Given the description of an element on the screen output the (x, y) to click on. 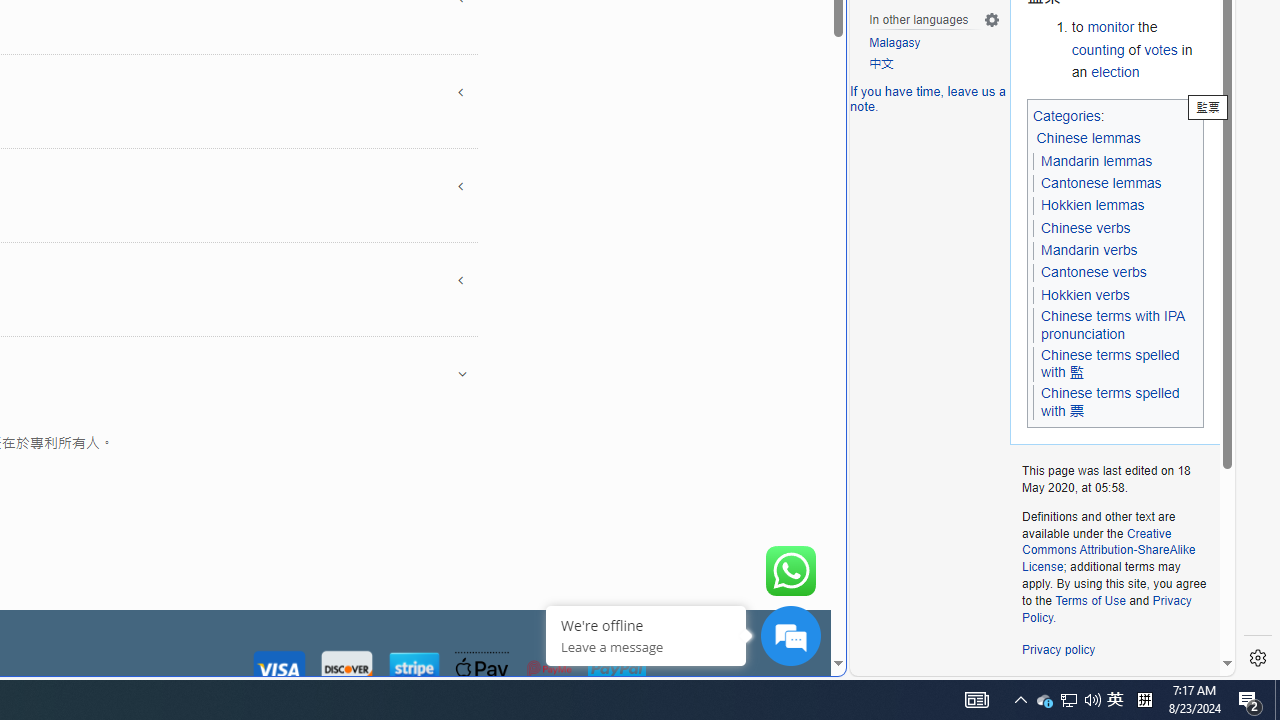
Privacy policy (1058, 650)
Malagasy (934, 43)
to monitor the counting of votes in an election (1137, 49)
counting (1098, 49)
Hokkien lemmas (1092, 206)
Mandarin lemmas (1096, 160)
Hokkien verbs (1085, 294)
Terms of Use (1090, 600)
Hokkien lemmas (1092, 205)
